Given the description of an element on the screen output the (x, y) to click on. 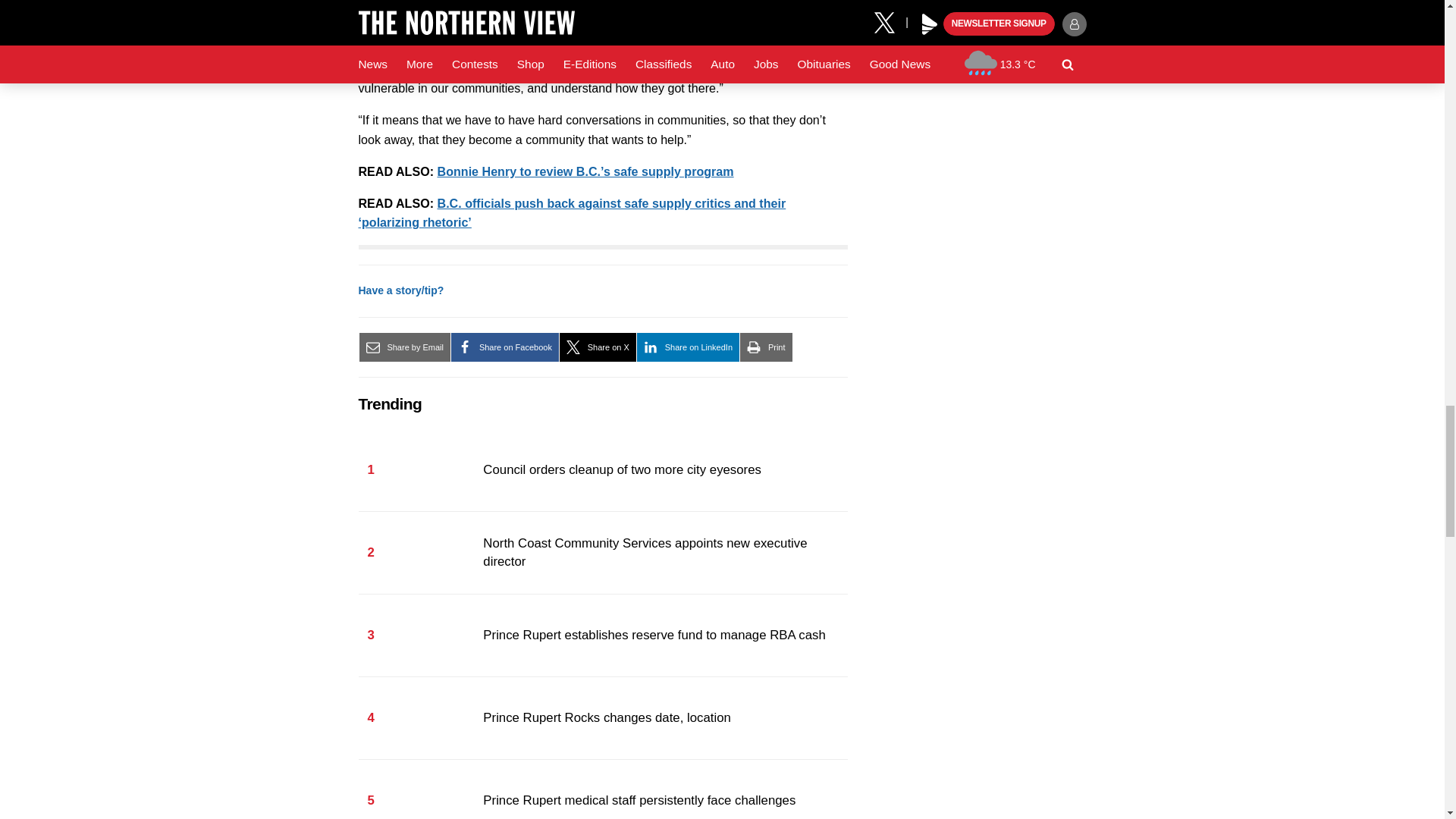
related story (572, 213)
related story (585, 171)
